Given the description of an element on the screen output the (x, y) to click on. 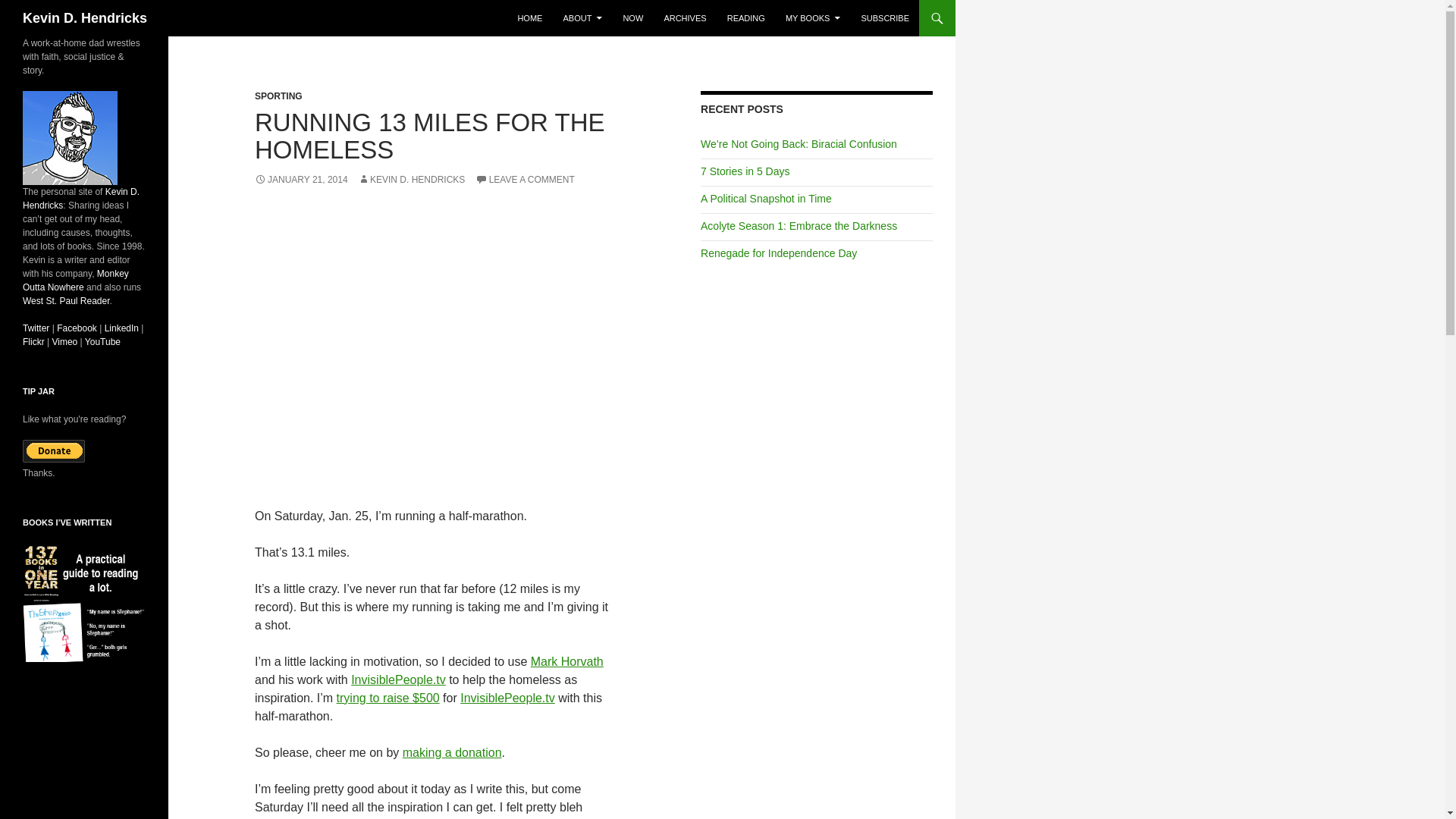
READING (745, 18)
SUBSCRIBE (884, 18)
making a donation (452, 752)
InvisiblePeople.tv (397, 679)
ARCHIVES (683, 18)
Mark Horvath (567, 661)
InvisiblePeople.tv (507, 697)
KEVIN D. HENDRICKS (411, 179)
SPORTING (278, 95)
ABOUT (582, 18)
